Given the description of an element on the screen output the (x, y) to click on. 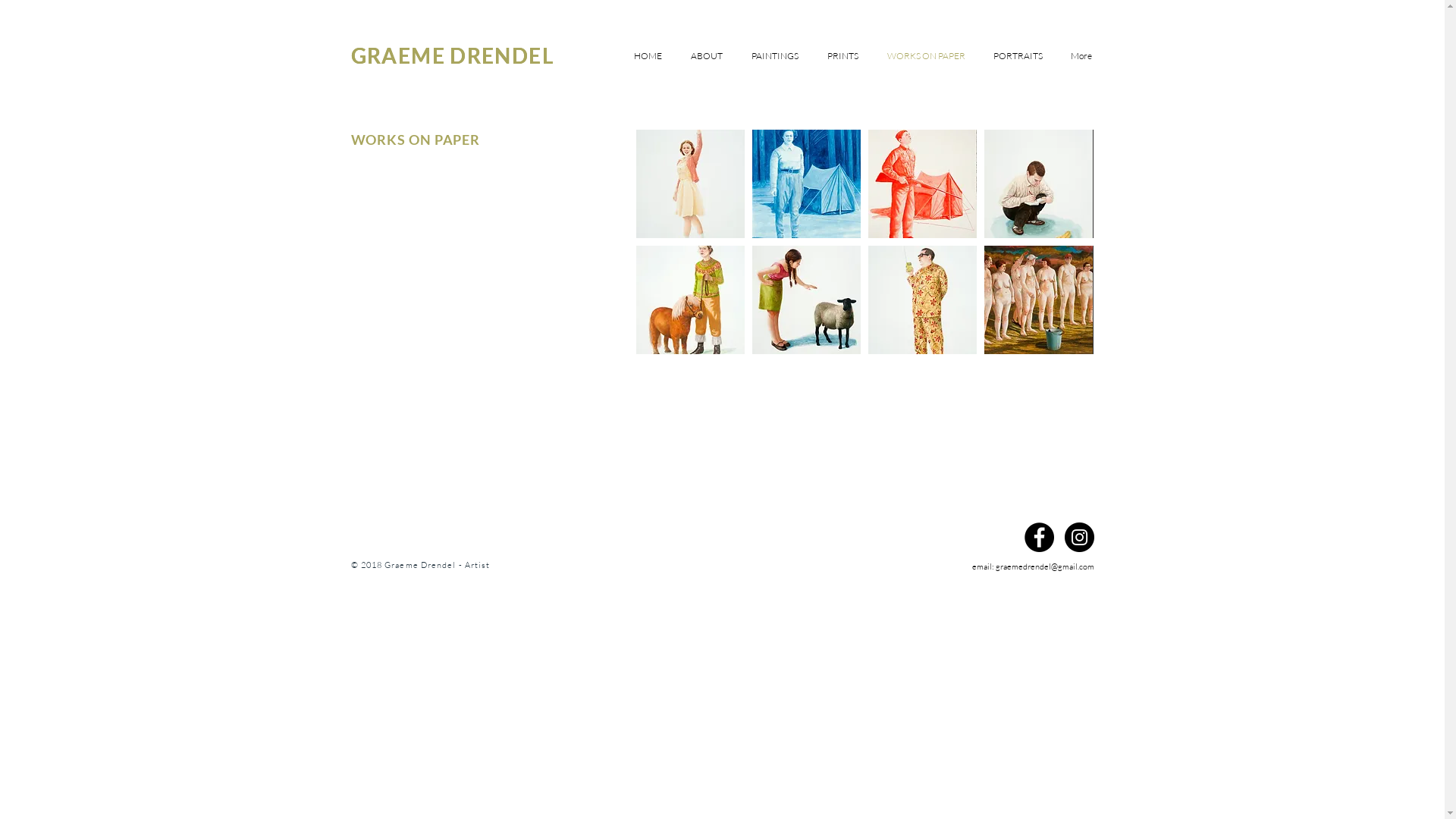
PORTRAITS Element type: text (1018, 55)
PAINTINGS Element type: text (776, 55)
HOME Element type: text (648, 55)
PRINTS Element type: text (844, 55)
WORKS ON PAPER Element type: text (926, 55)
ABOUT Element type: text (707, 55)
graemedrendel@gmail.com Element type: text (1043, 566)
